Given the description of an element on the screen output the (x, y) to click on. 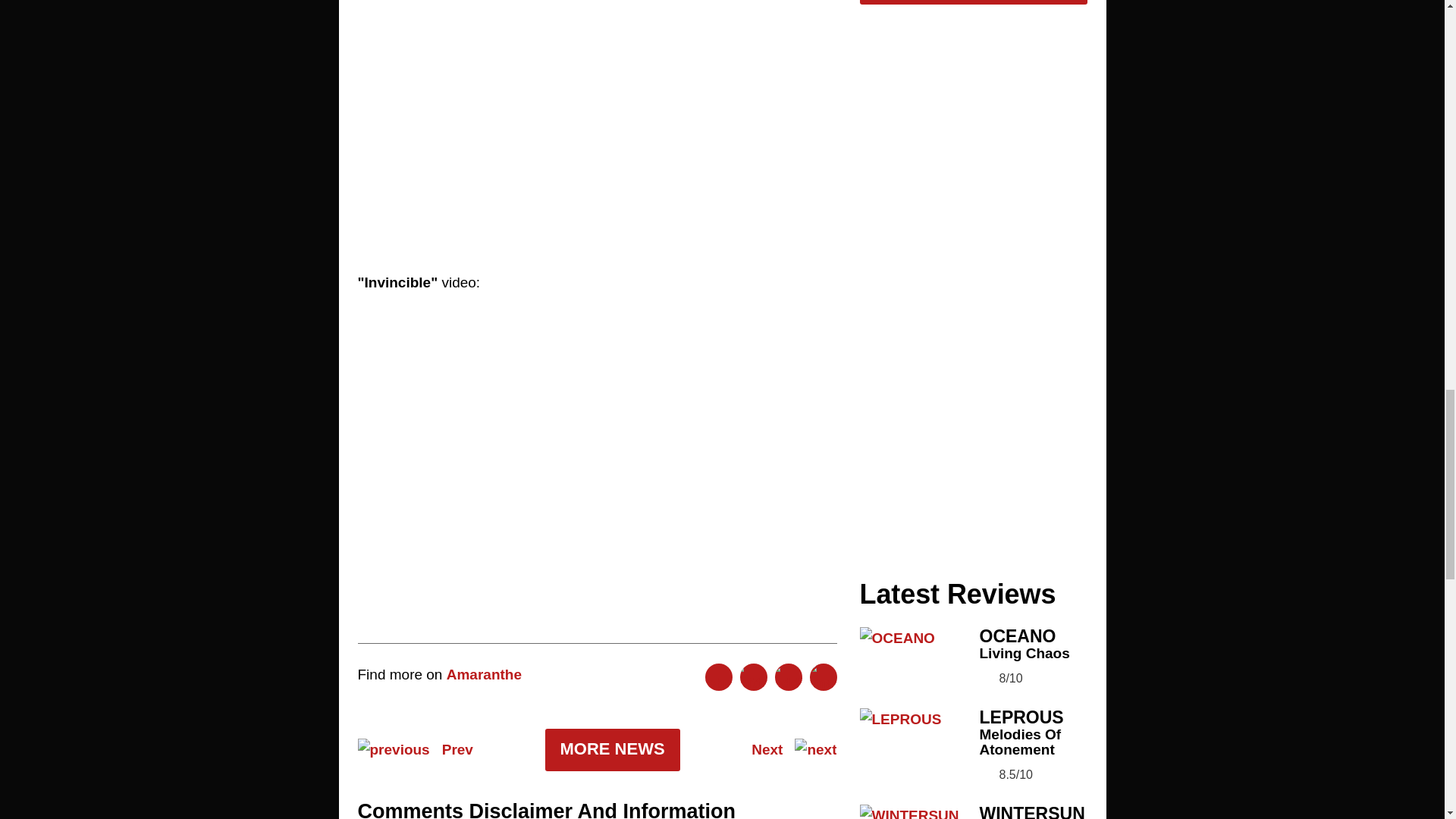
Share On Twitter (753, 677)
Copy To Clipboard (823, 677)
Next (793, 749)
Share On Facebook (718, 677)
Amaranthe (483, 674)
MORE NEWS (611, 749)
Prev (415, 749)
Share On Reddit (788, 677)
